Given the description of an element on the screen output the (x, y) to click on. 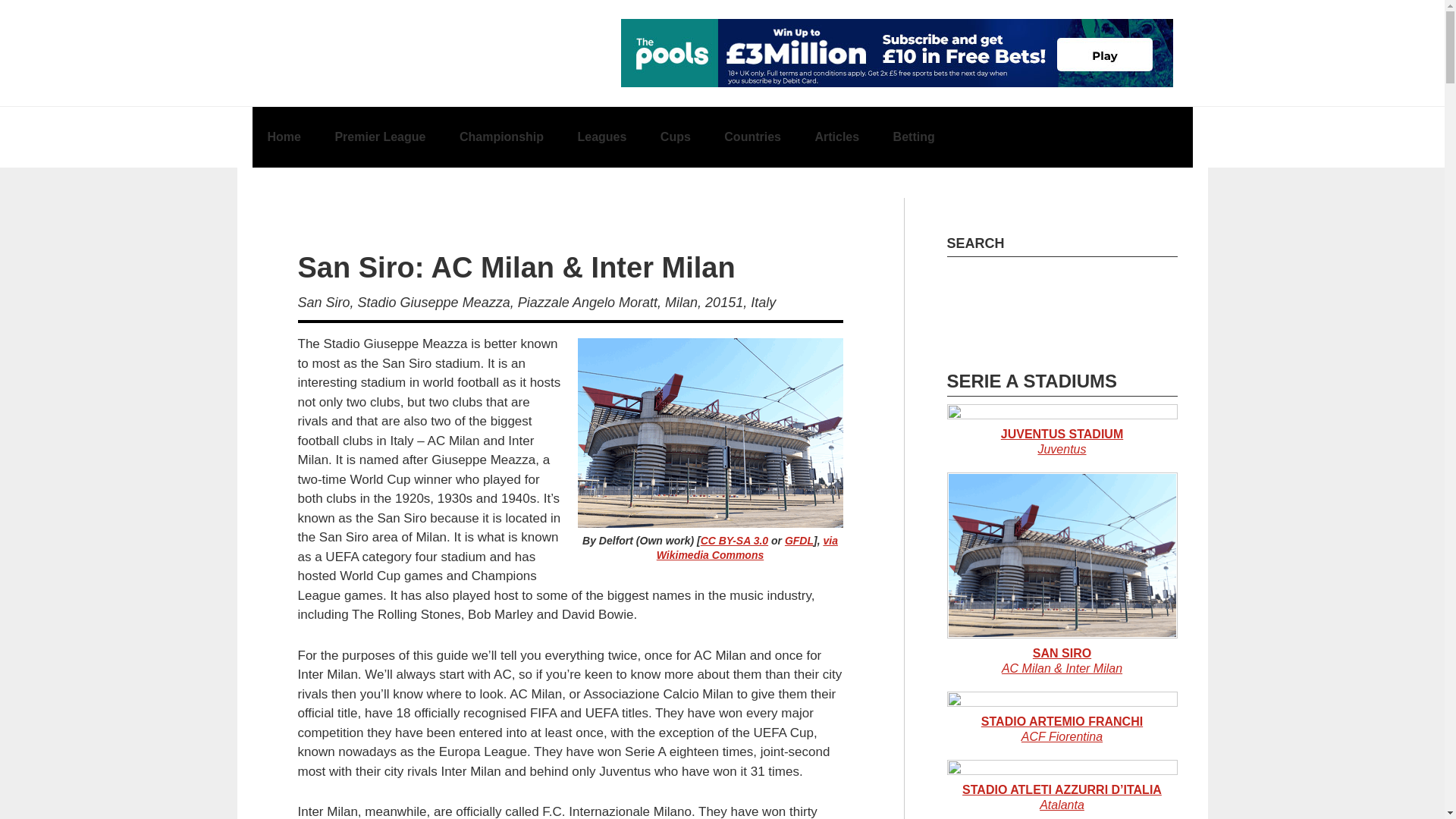
Countries (752, 137)
Leagues (602, 137)
Home (283, 137)
via Wikimedia Commons (747, 547)
Premier League (379, 137)
Championship (501, 137)
Articles (837, 137)
Betting (913, 137)
CC BY-SA 3.0 (734, 540)
Football-Stadiums.co.uk (349, 45)
Cups (675, 137)
GFDL (798, 540)
